Given the description of an element on the screen output the (x, y) to click on. 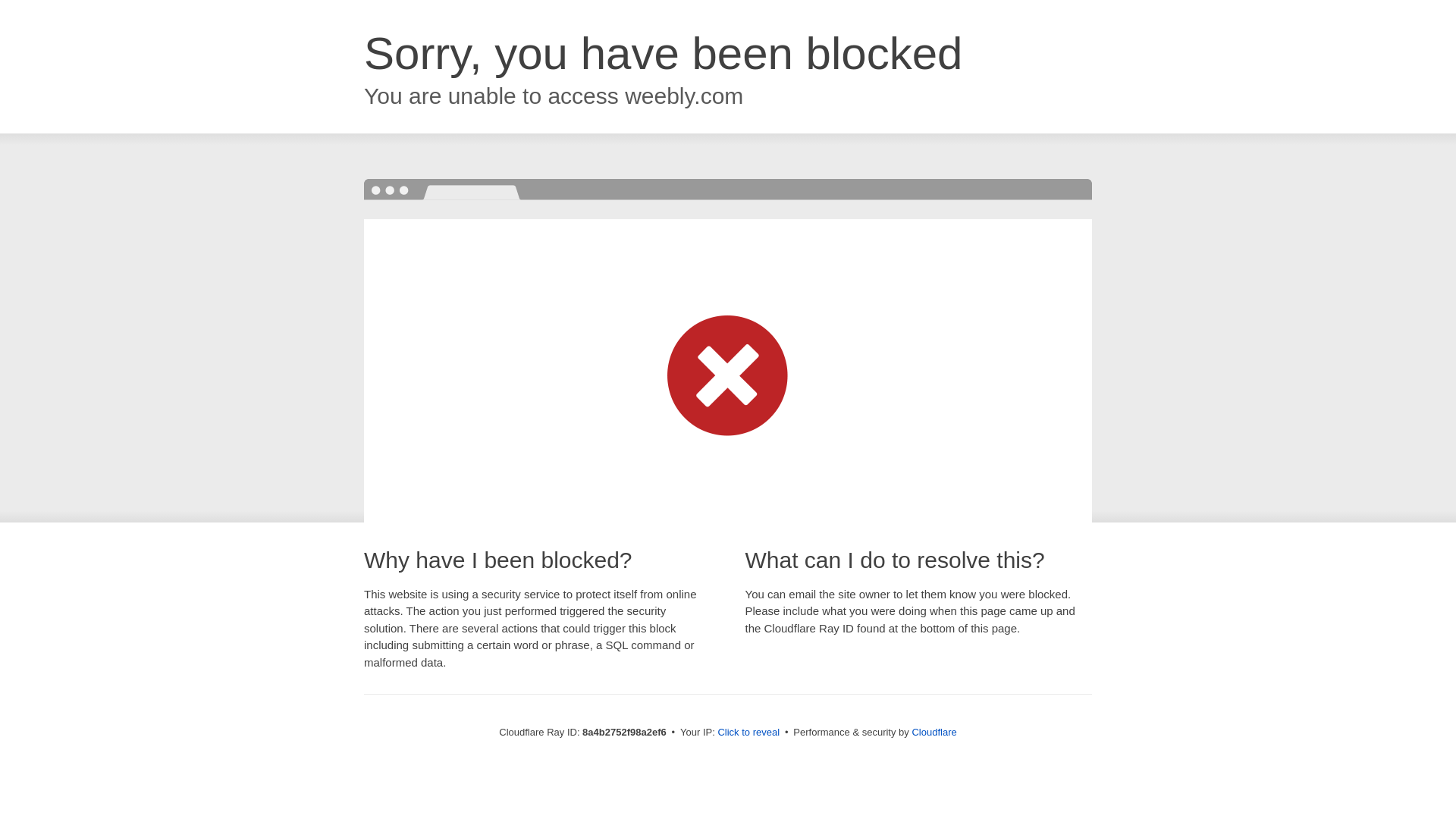
Click to reveal (747, 732)
Cloudflare (933, 731)
